Given the description of an element on the screen output the (x, y) to click on. 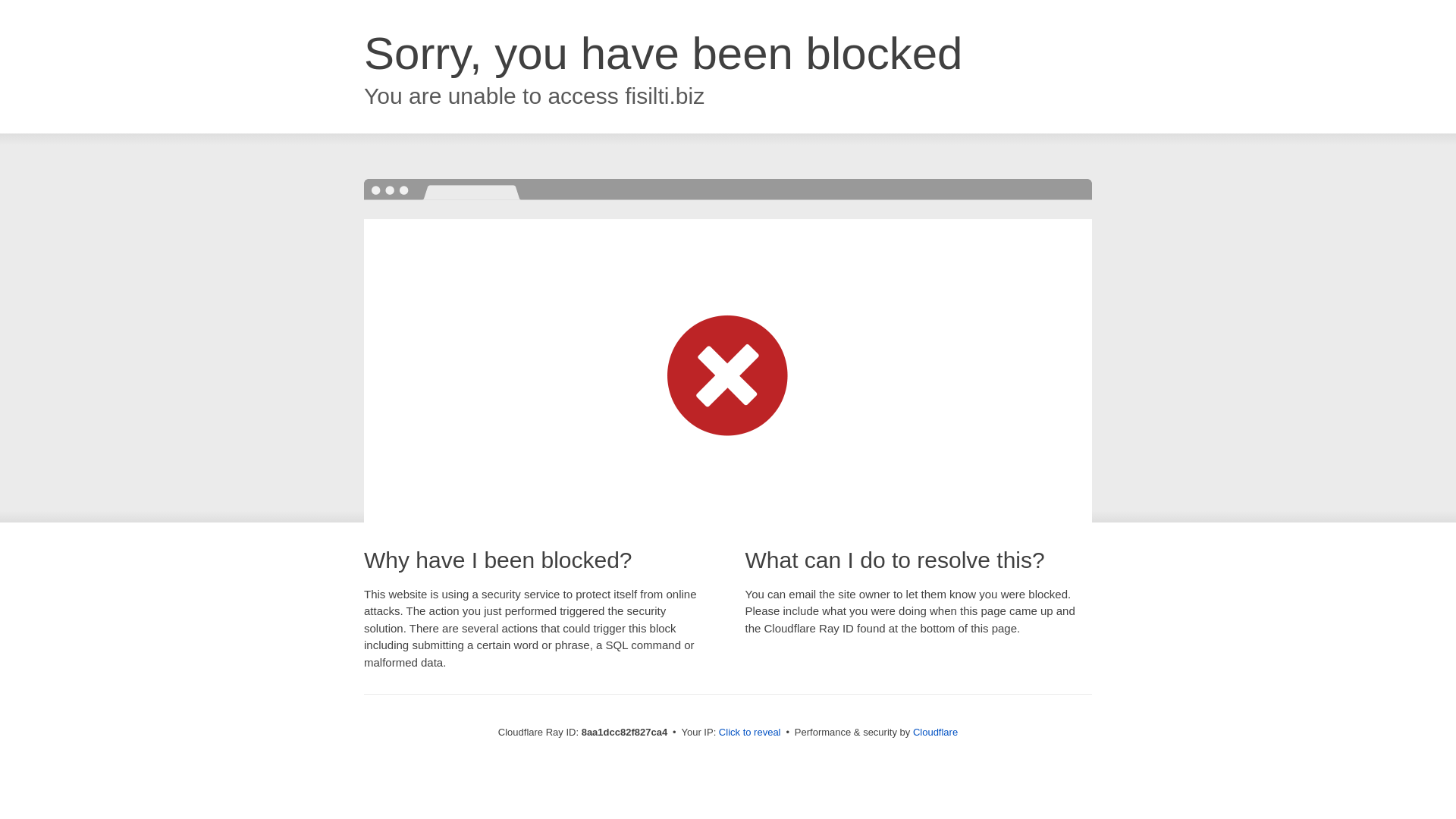
Click to reveal (749, 732)
Cloudflare (935, 731)
